Given the description of an element on the screen output the (x, y) to click on. 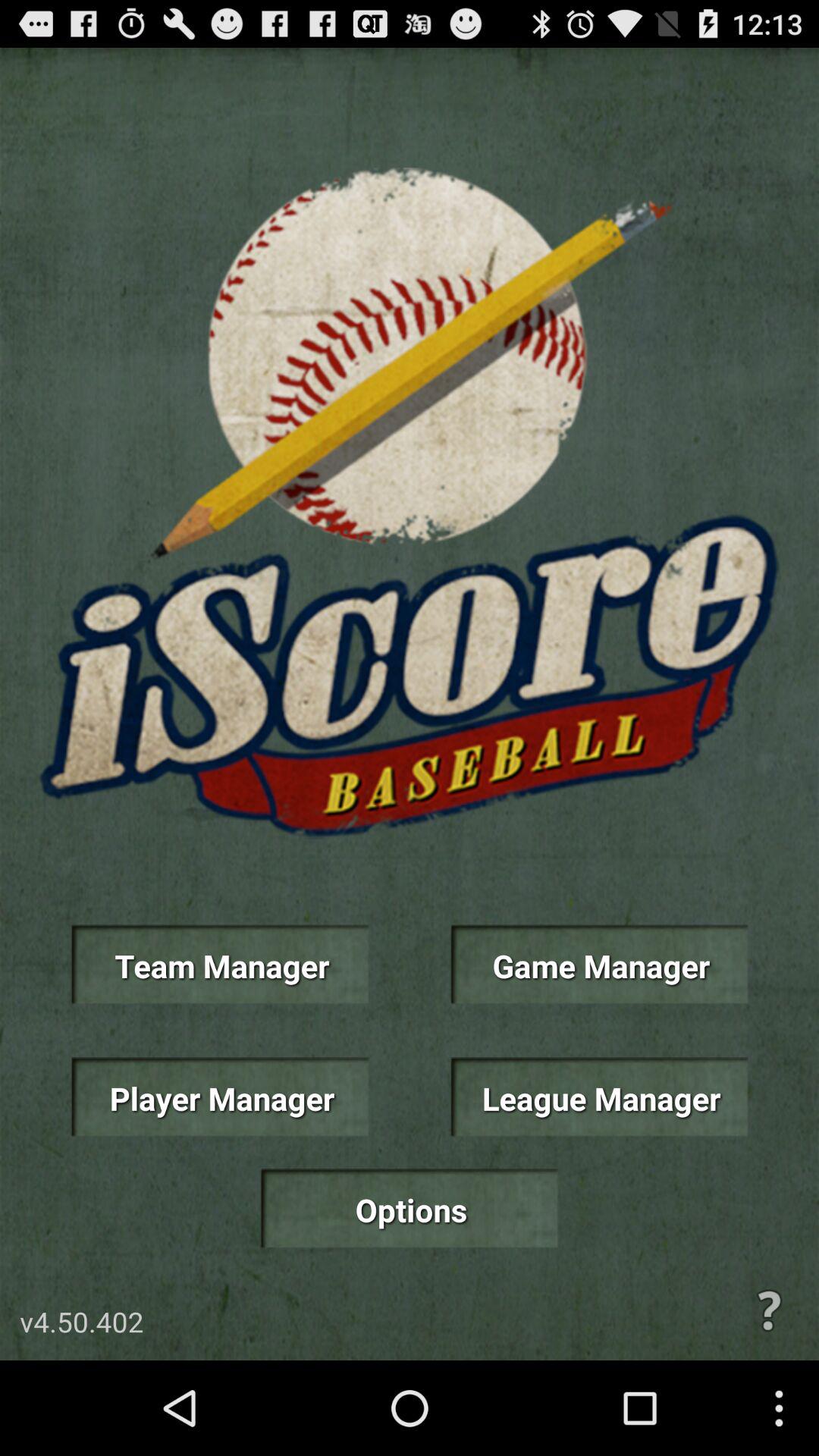
press the game manager (598, 964)
